Given the description of an element on the screen output the (x, y) to click on. 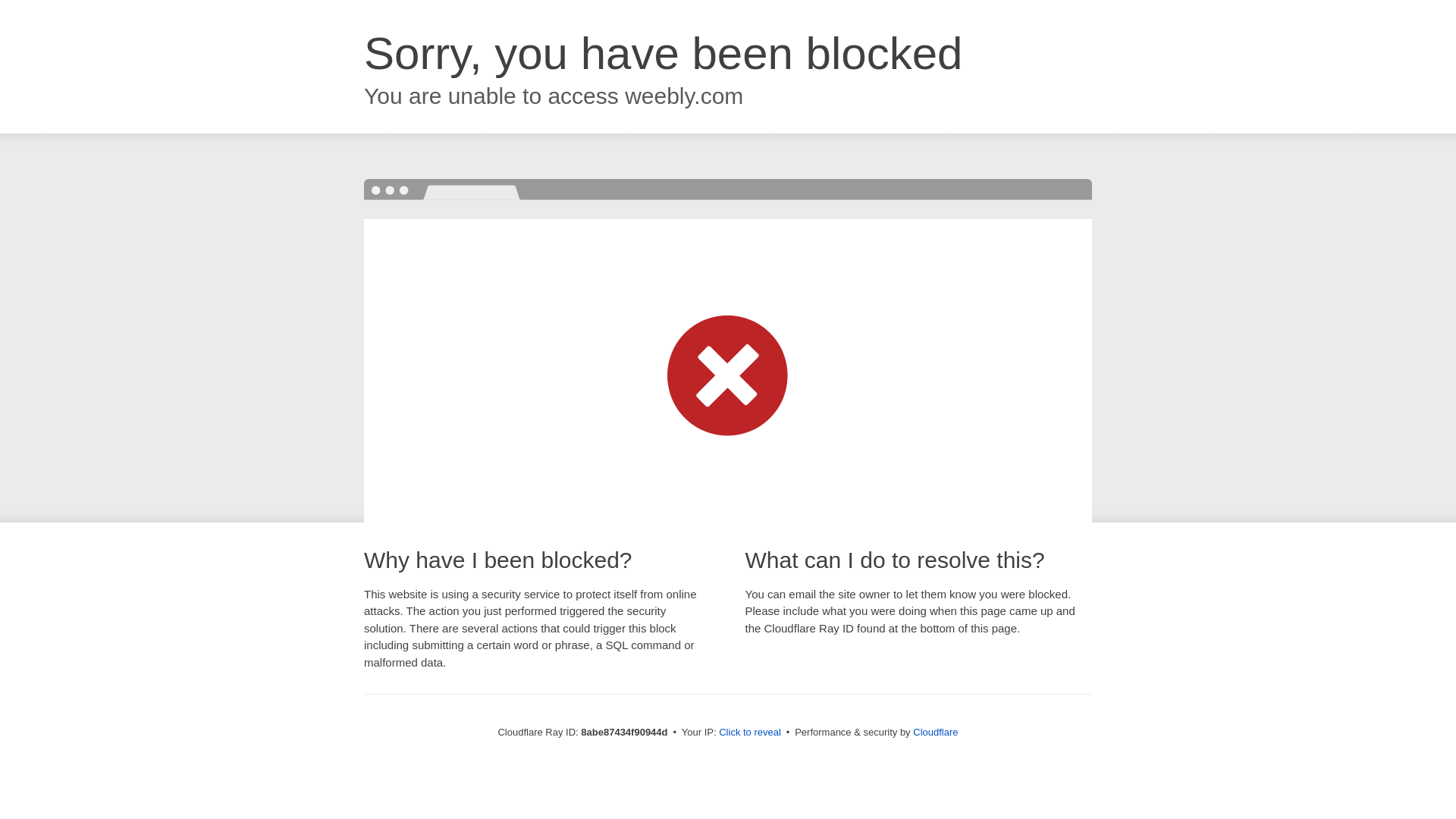
Click to reveal (749, 732)
Cloudflare (935, 731)
